Given the description of an element on the screen output the (x, y) to click on. 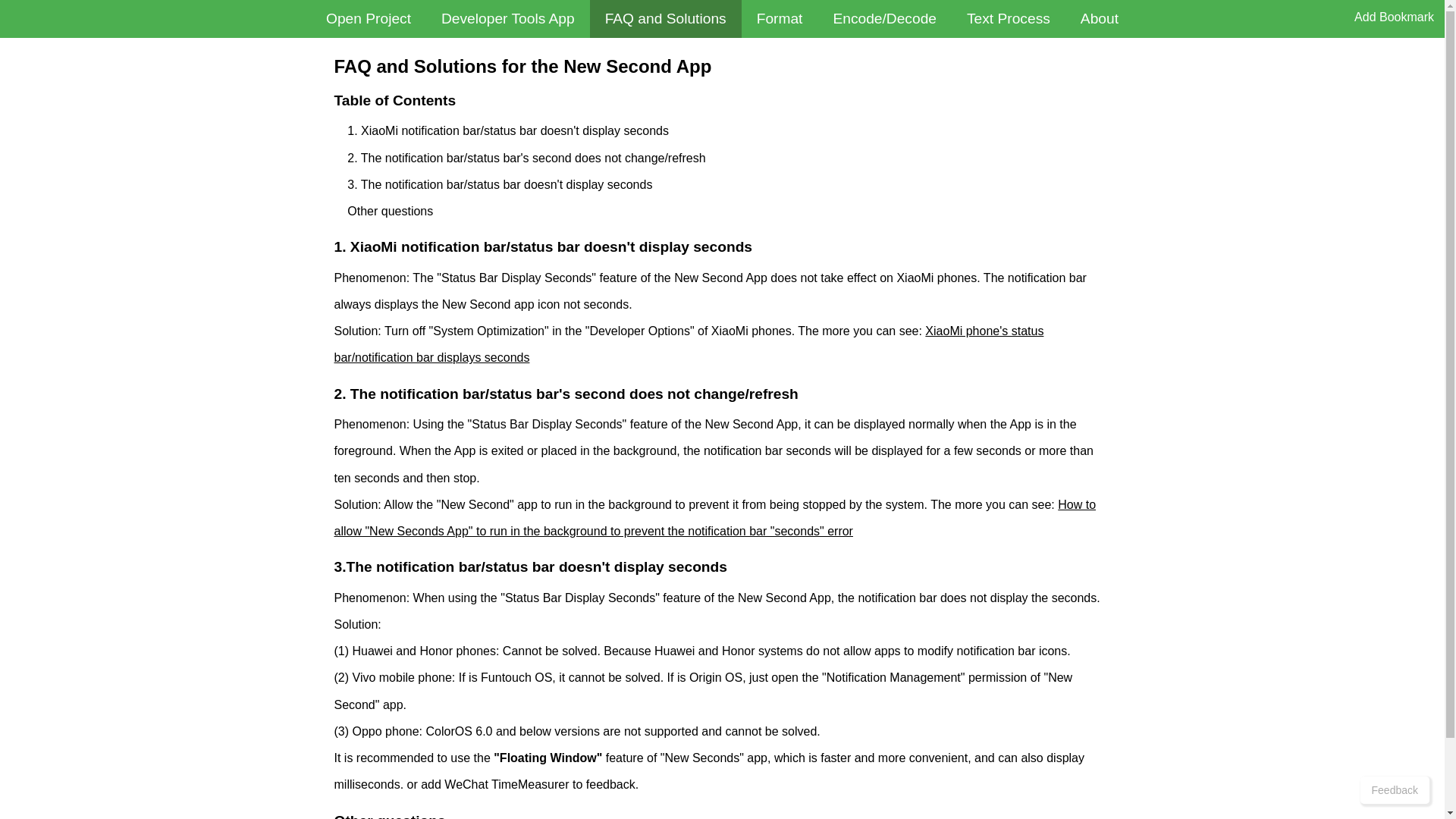
Developer Tools App (507, 18)
Add Bookmark (1394, 17)
About (1099, 18)
Other questions (389, 210)
Format (779, 18)
Text Process (1008, 18)
FAQ and Solutions (665, 18)
Feedback (1394, 789)
Open Project (368, 18)
